Given the description of an element on the screen output the (x, y) to click on. 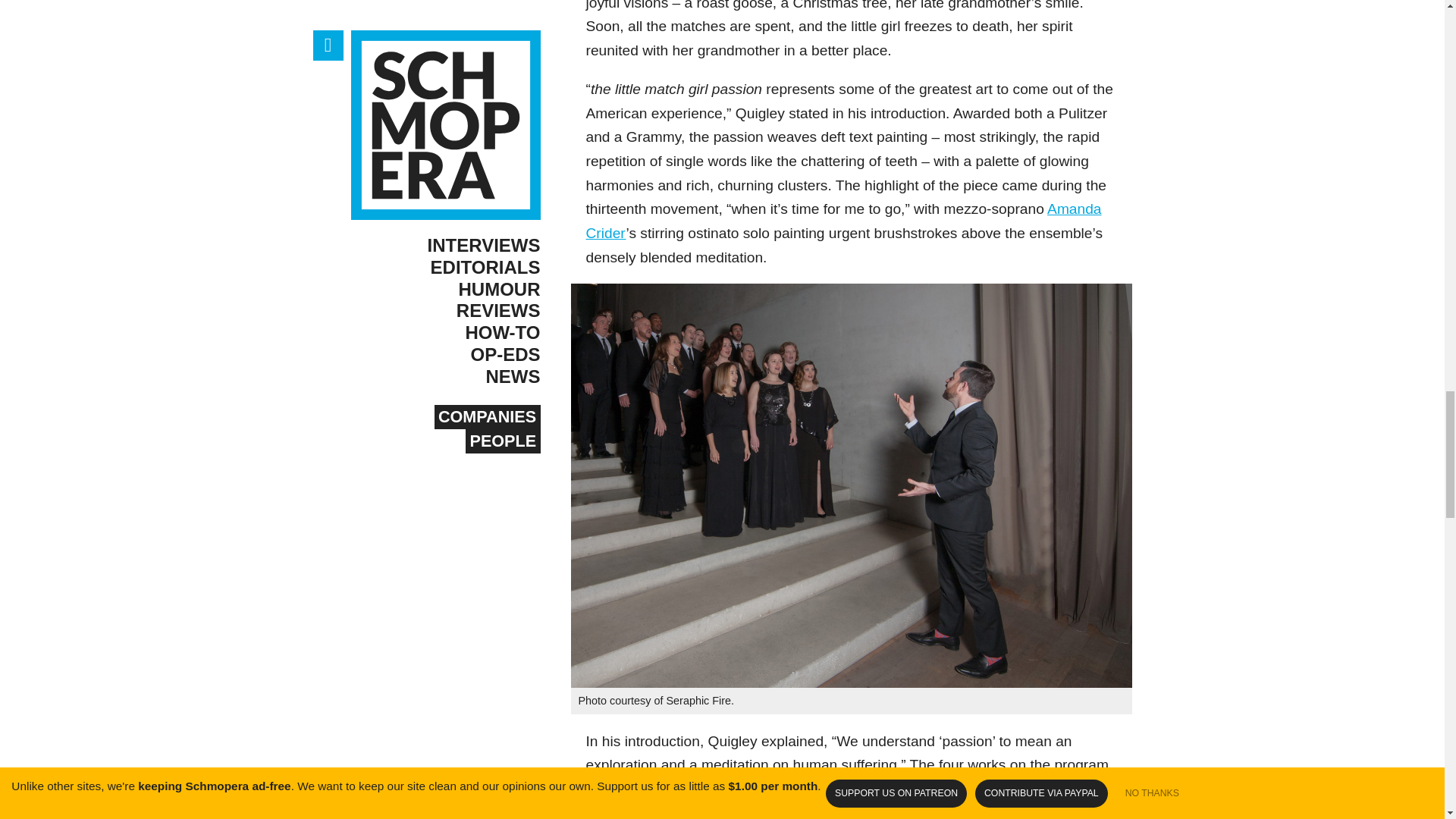
Amanda Crider (842, 220)
